Given the description of an element on the screen output the (x, y) to click on. 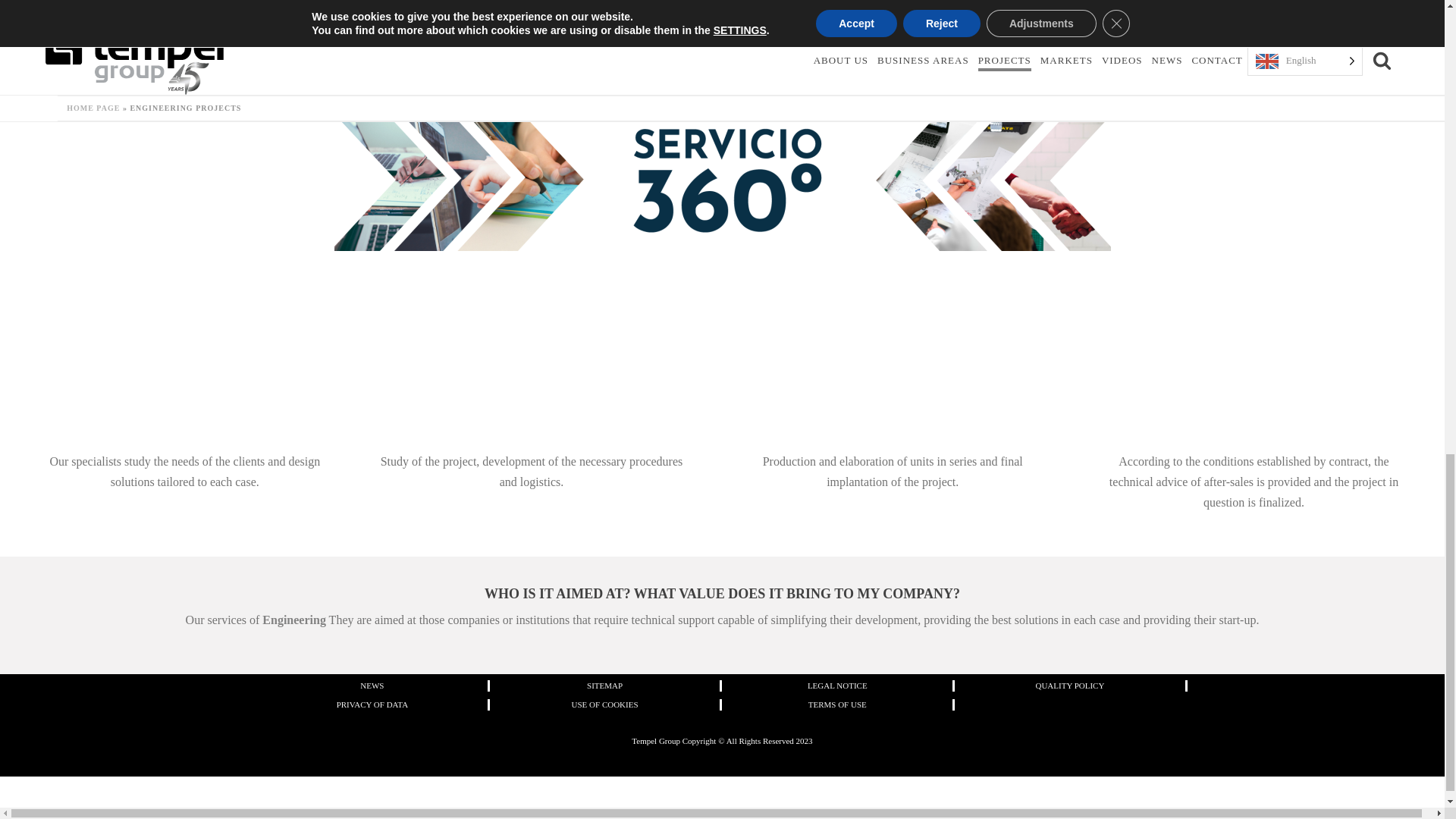
Read more (171, 22)
Read more (573, 41)
Read more (372, 22)
